Given the description of an element on the screen output the (x, y) to click on. 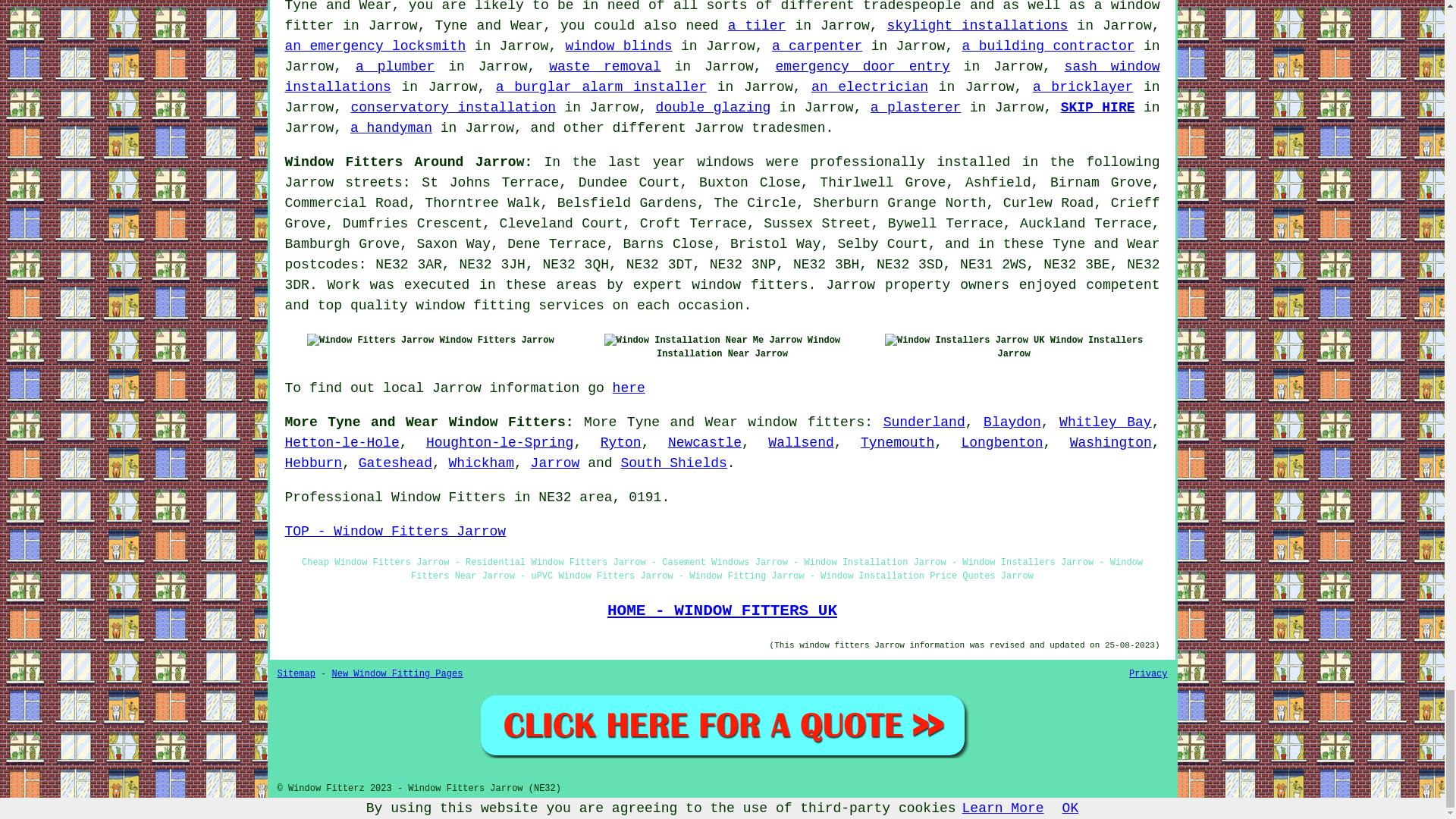
Window Fitters Jarrow (370, 340)
